Given the description of an element on the screen output the (x, y) to click on. 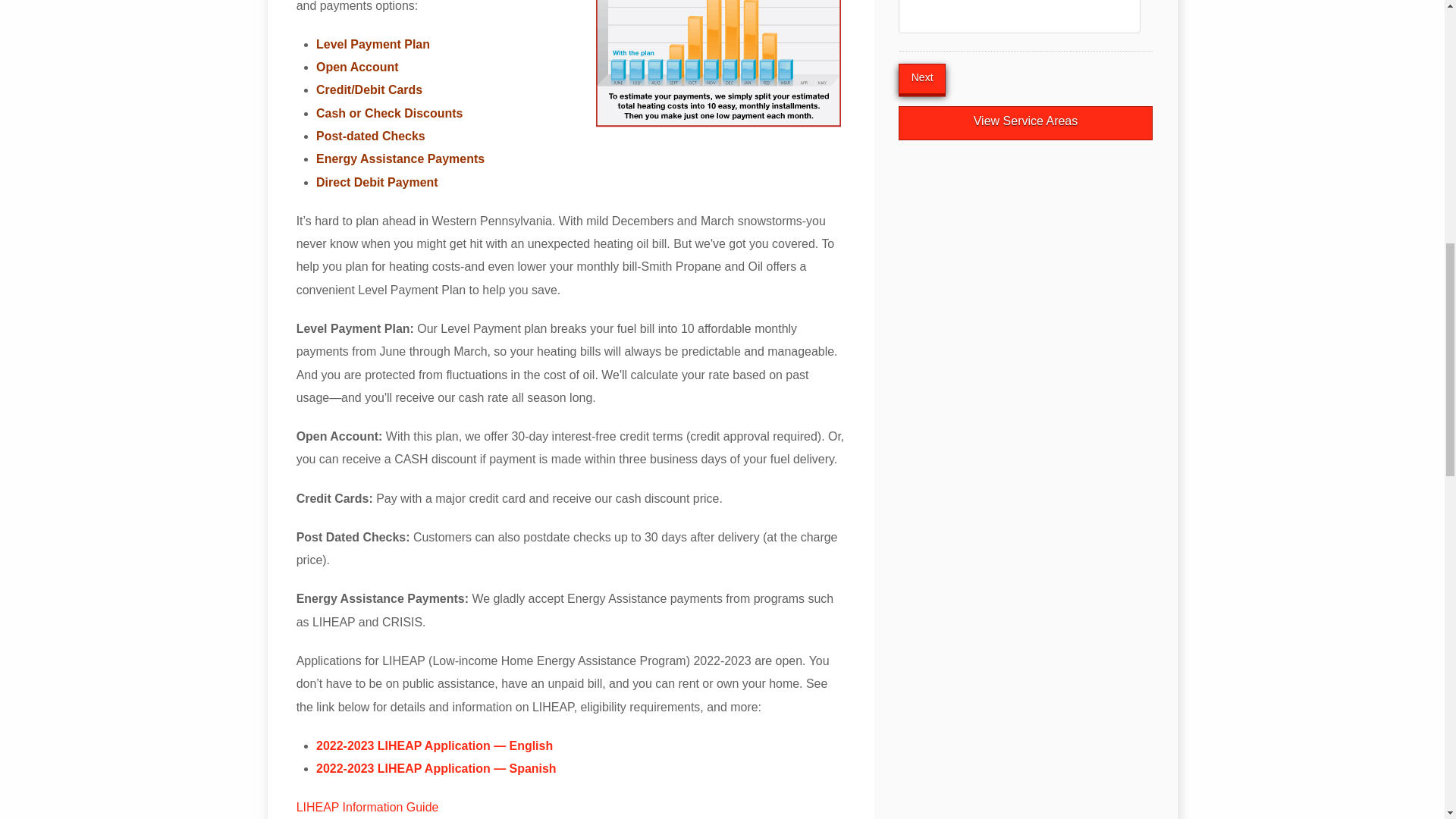
View Service Areas (1025, 123)
LIHEAP Information Guide (368, 807)
Next (921, 78)
